Given the description of an element on the screen output the (x, y) to click on. 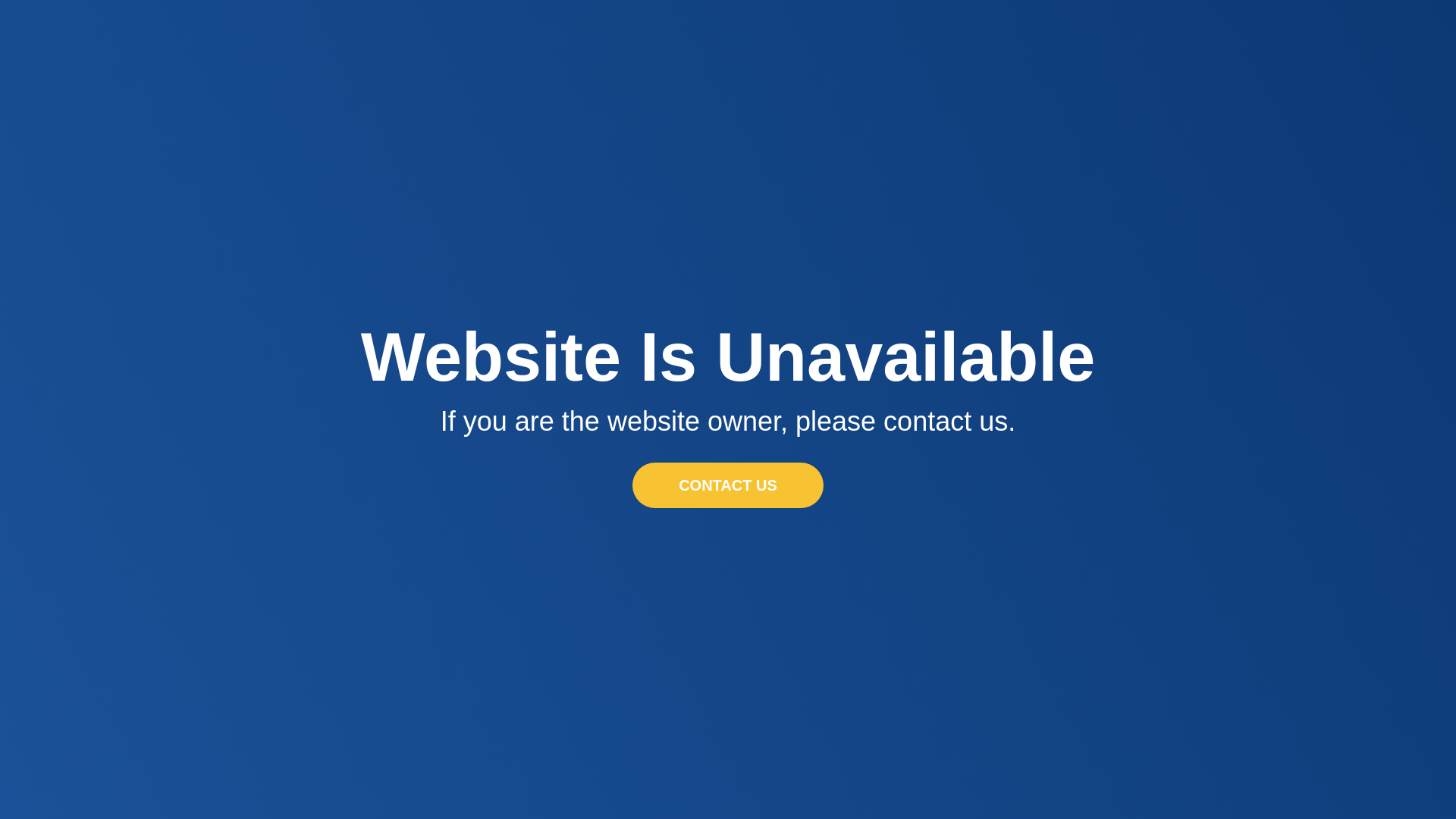
CONTACT US (727, 484)
